Given the description of an element on the screen output the (x, y) to click on. 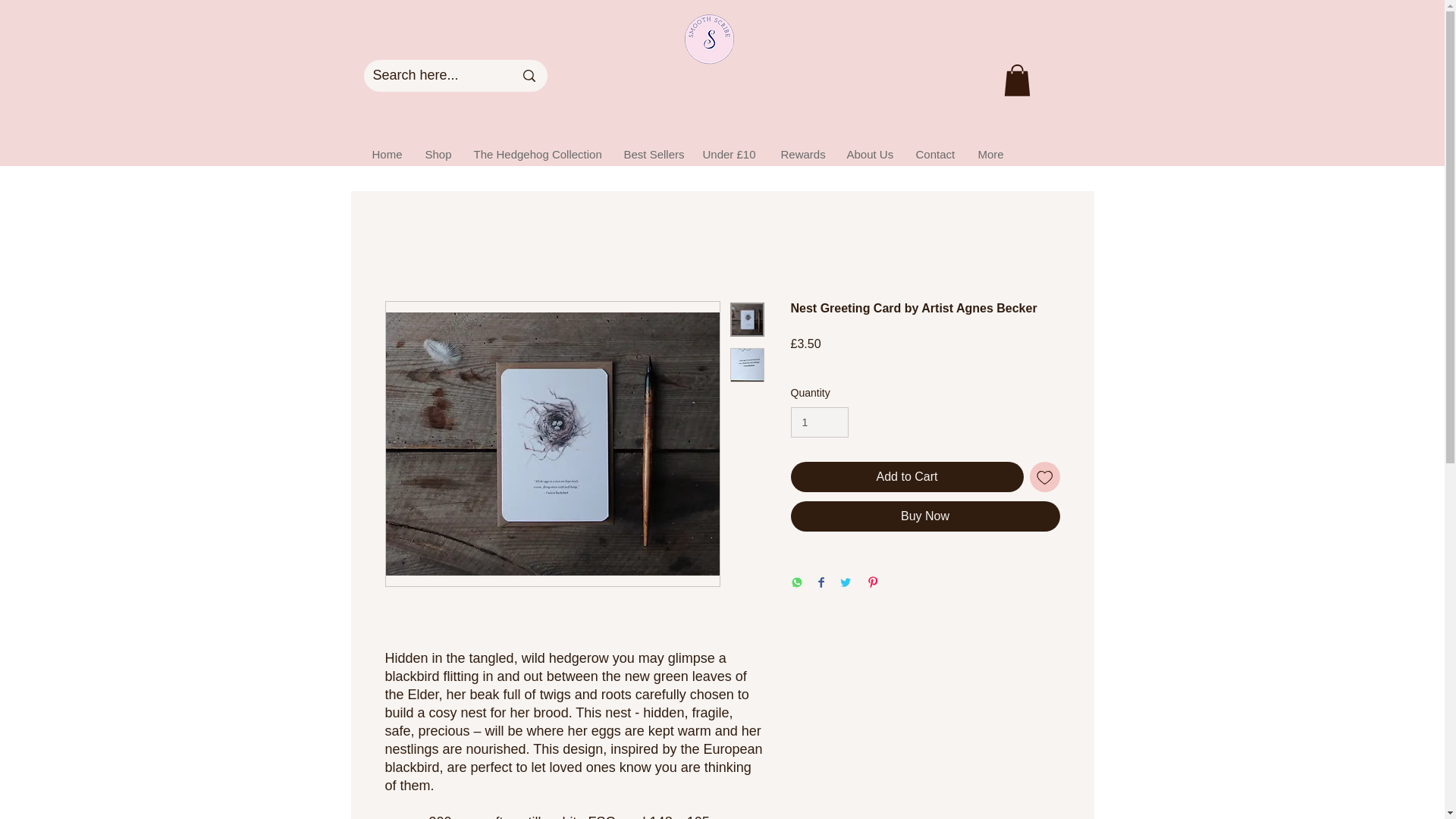
Home (387, 154)
About Us (868, 154)
Free Shipping (828, 364)
The Hedgehog Collection (536, 154)
Rewards (801, 154)
Shop (436, 154)
1 (818, 422)
Add to Cart (906, 476)
Buy Now (924, 516)
Contact (935, 154)
Best Sellers (650, 154)
